Given the description of an element on the screen output the (x, y) to click on. 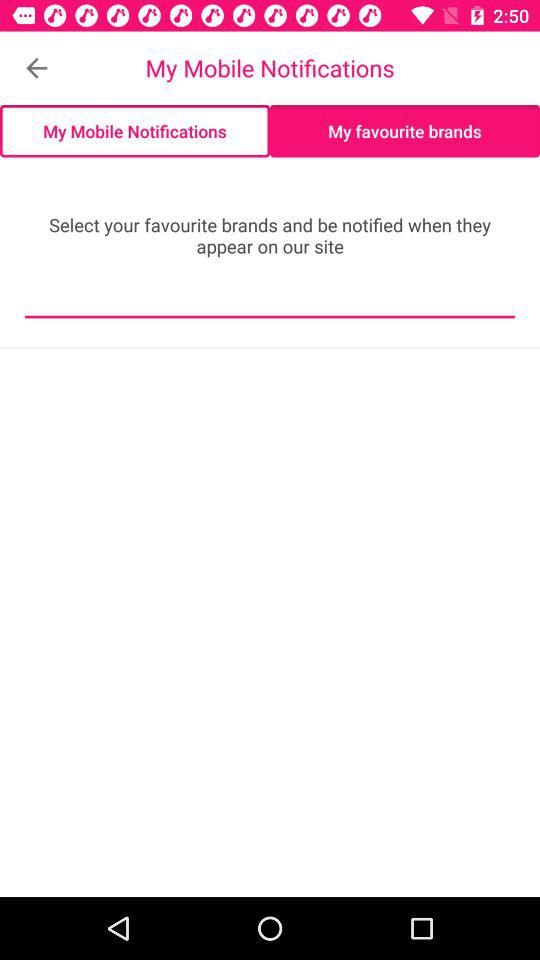
write favourite brands (269, 302)
